Given the description of an element on the screen output the (x, y) to click on. 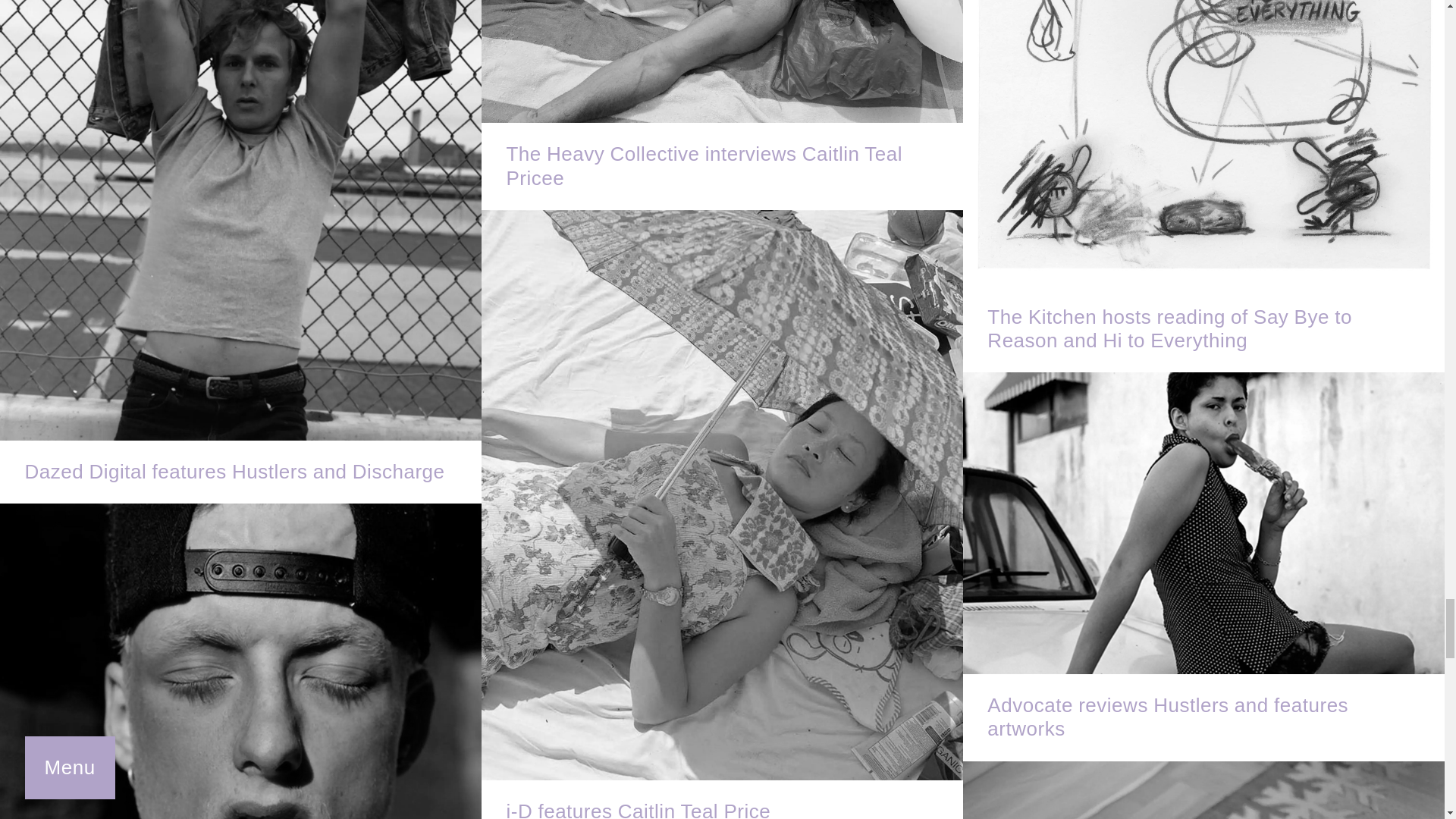
The Heavy Collective interviews Caitlin Teal Pricee (721, 104)
